Given the description of an element on the screen output the (x, y) to click on. 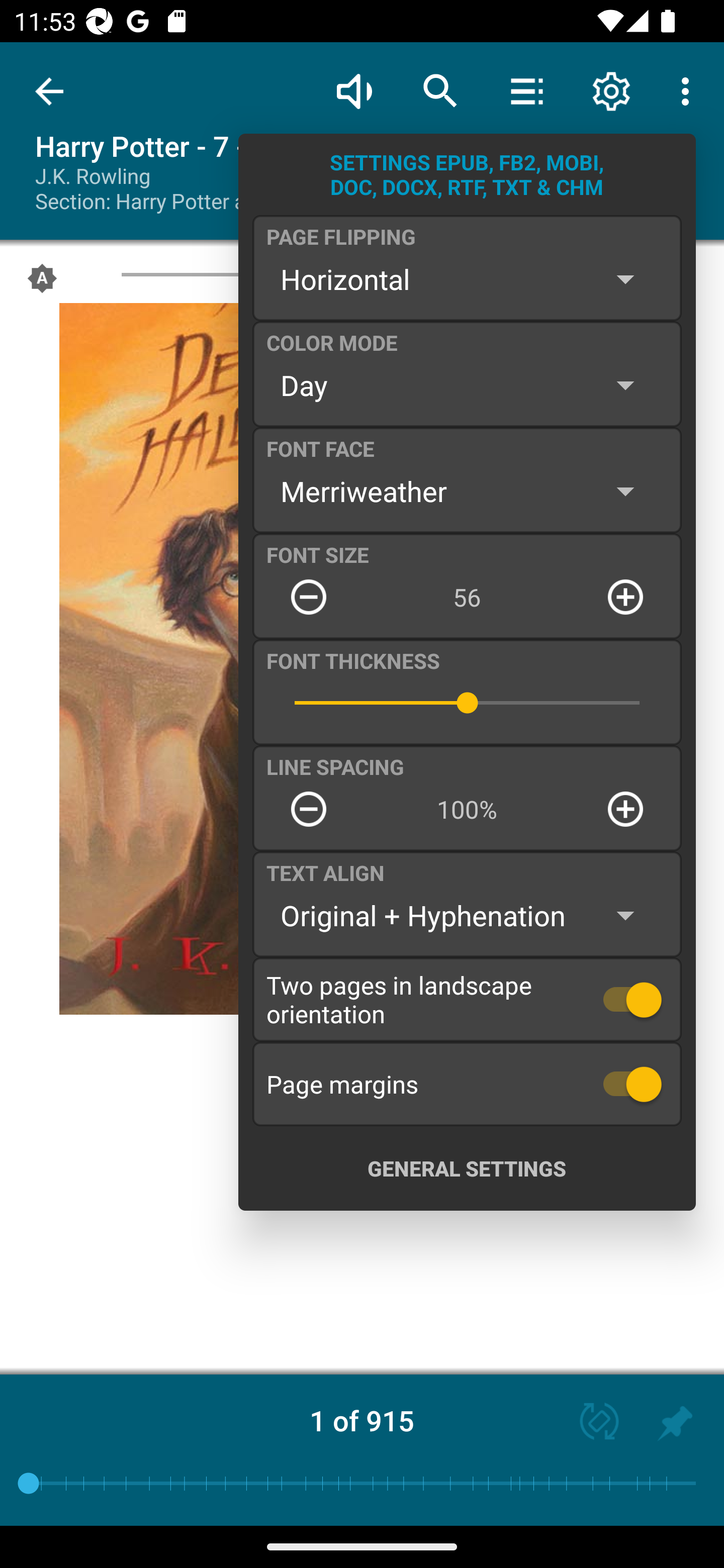
Horizontal (466, 278)
Day (466, 384)
Merriweather (466, 490)
Original + Hyphenation (466, 915)
Two pages in landscape orientation (467, 999)
Page margins (467, 1083)
GENERAL SETTINGS (466, 1167)
